Given the description of an element on the screen output the (x, y) to click on. 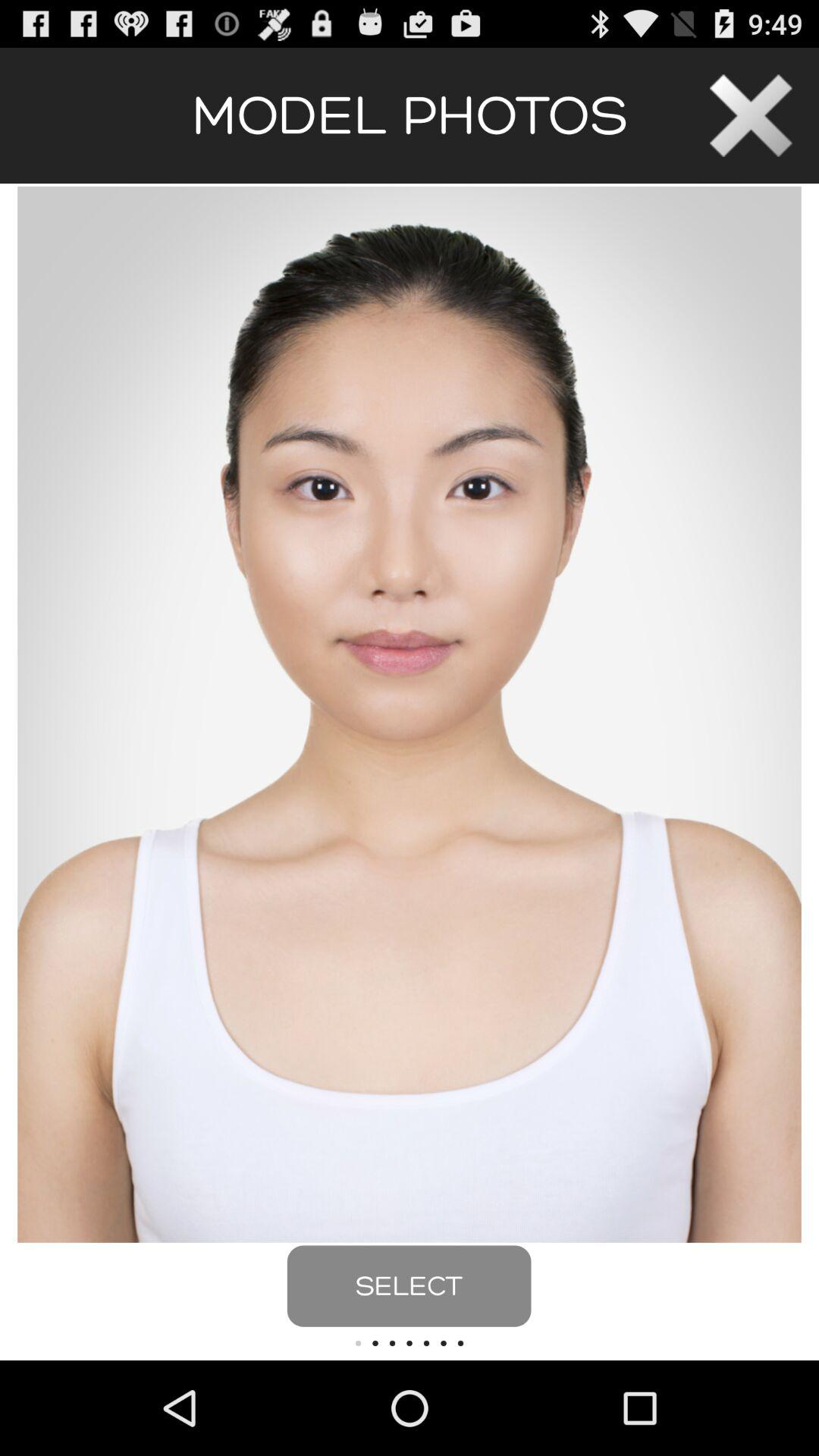
close the window (751, 115)
